Given the description of an element on the screen output the (x, y) to click on. 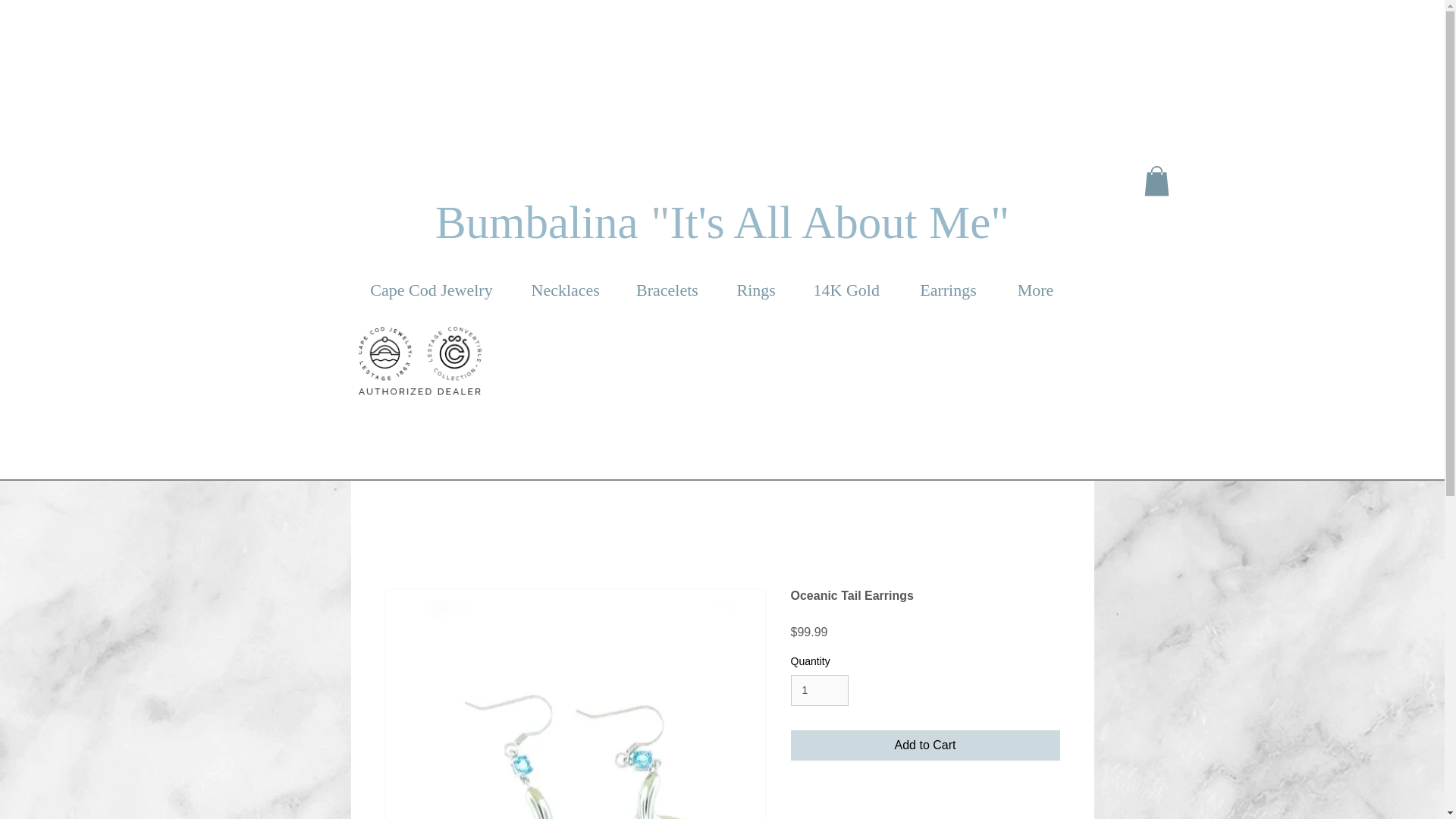
Add to Cart (924, 745)
Cape Cod Jewelry (431, 290)
Earrings (947, 290)
14K Gold (846, 290)
Bracelets (667, 290)
1 (818, 689)
Rings (755, 290)
Necklaces (564, 290)
